Given the description of an element on the screen output the (x, y) to click on. 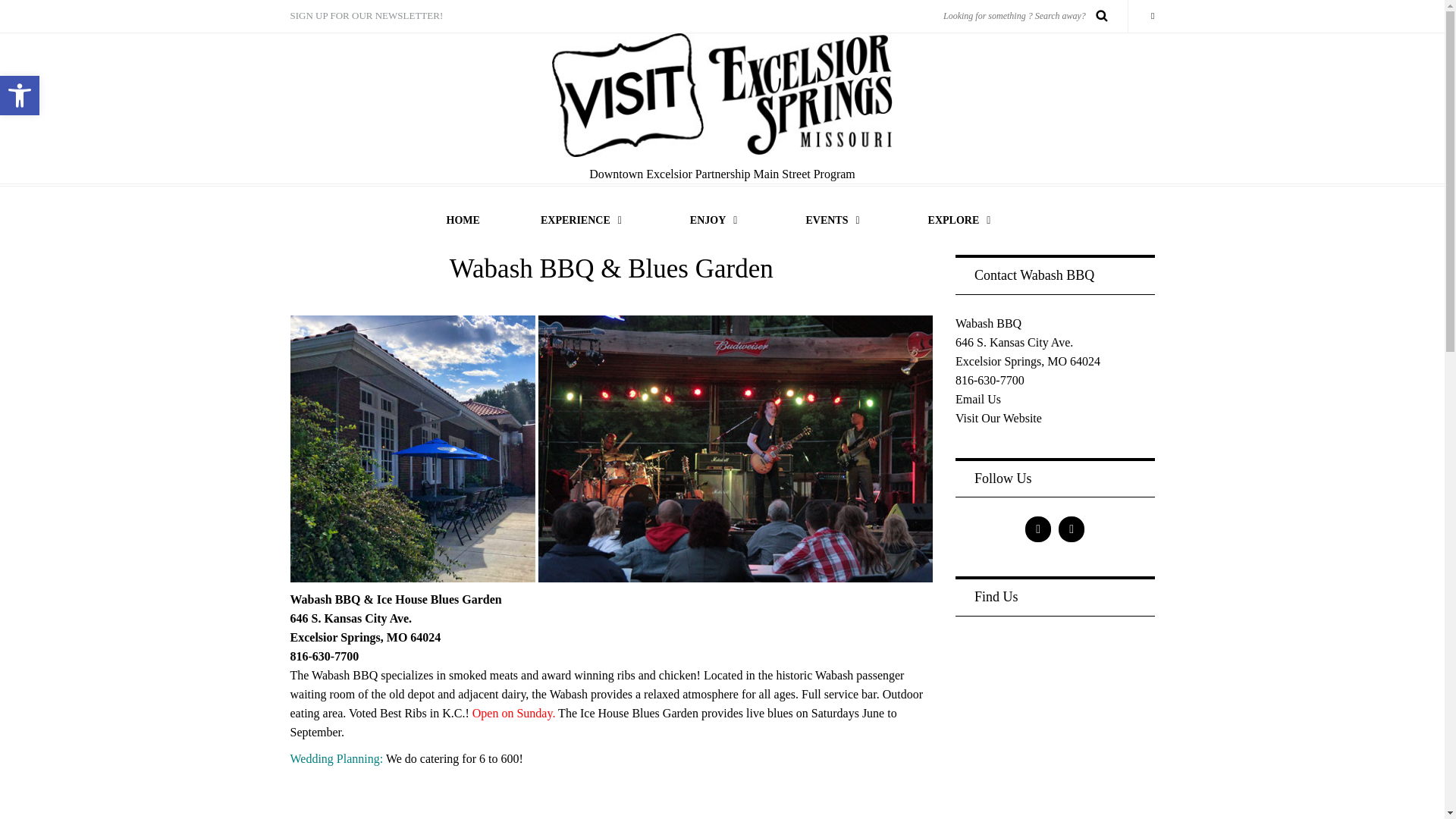
HOME (463, 220)
Email Us (978, 399)
Accessibility Tools (19, 95)
EVENTS (835, 220)
EXPERIENCE (585, 220)
EXPLORE (963, 220)
SIGN UP FOR OUR NEWSLETTER! (371, 16)
Visit Our Website (998, 418)
Accessibility Tools (19, 95)
ENJOY (717, 220)
